Given the description of an element on the screen output the (x, y) to click on. 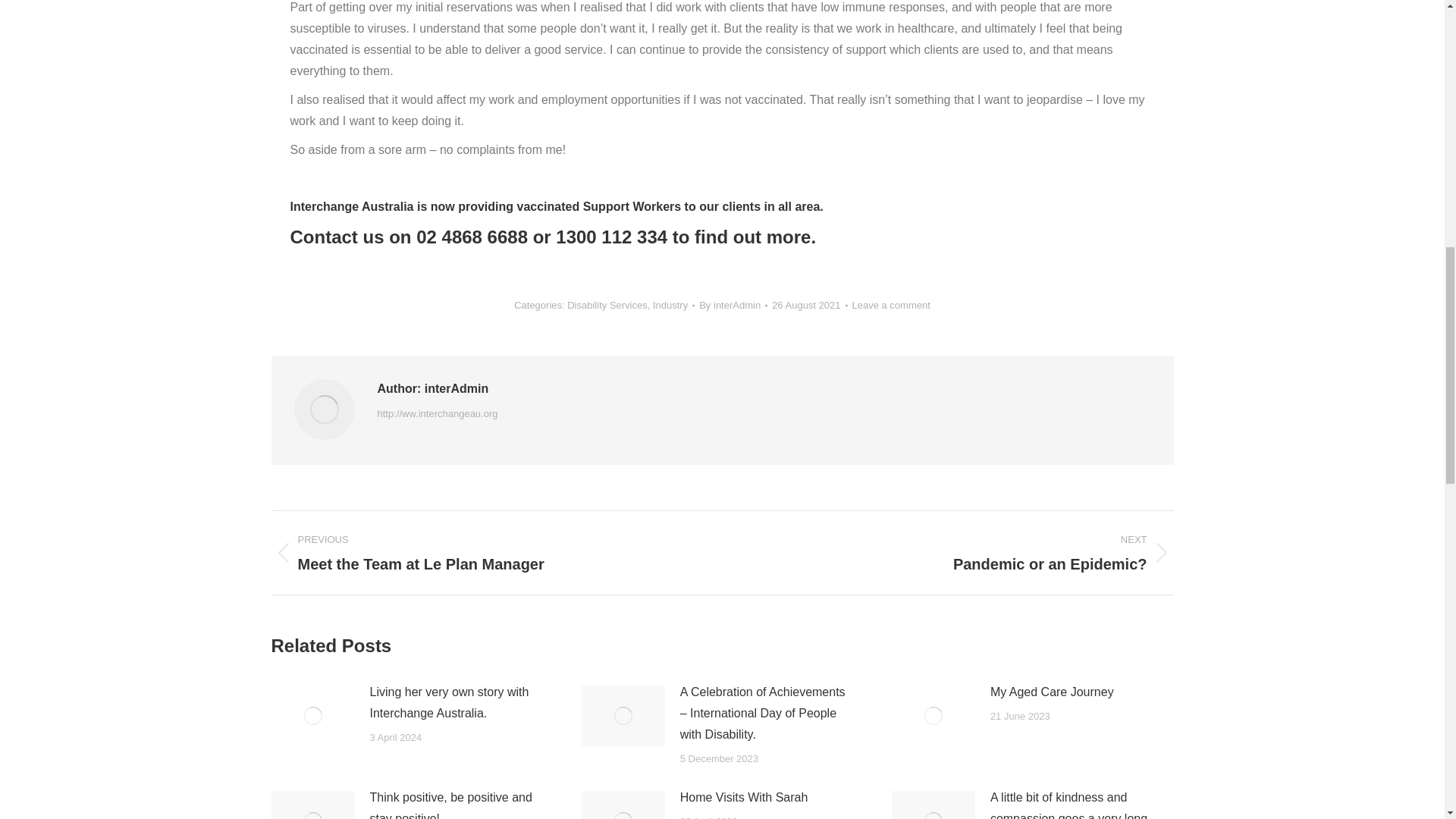
4:50 am (809, 304)
View all posts by interAdmin (732, 304)
